Given the description of an element on the screen output the (x, y) to click on. 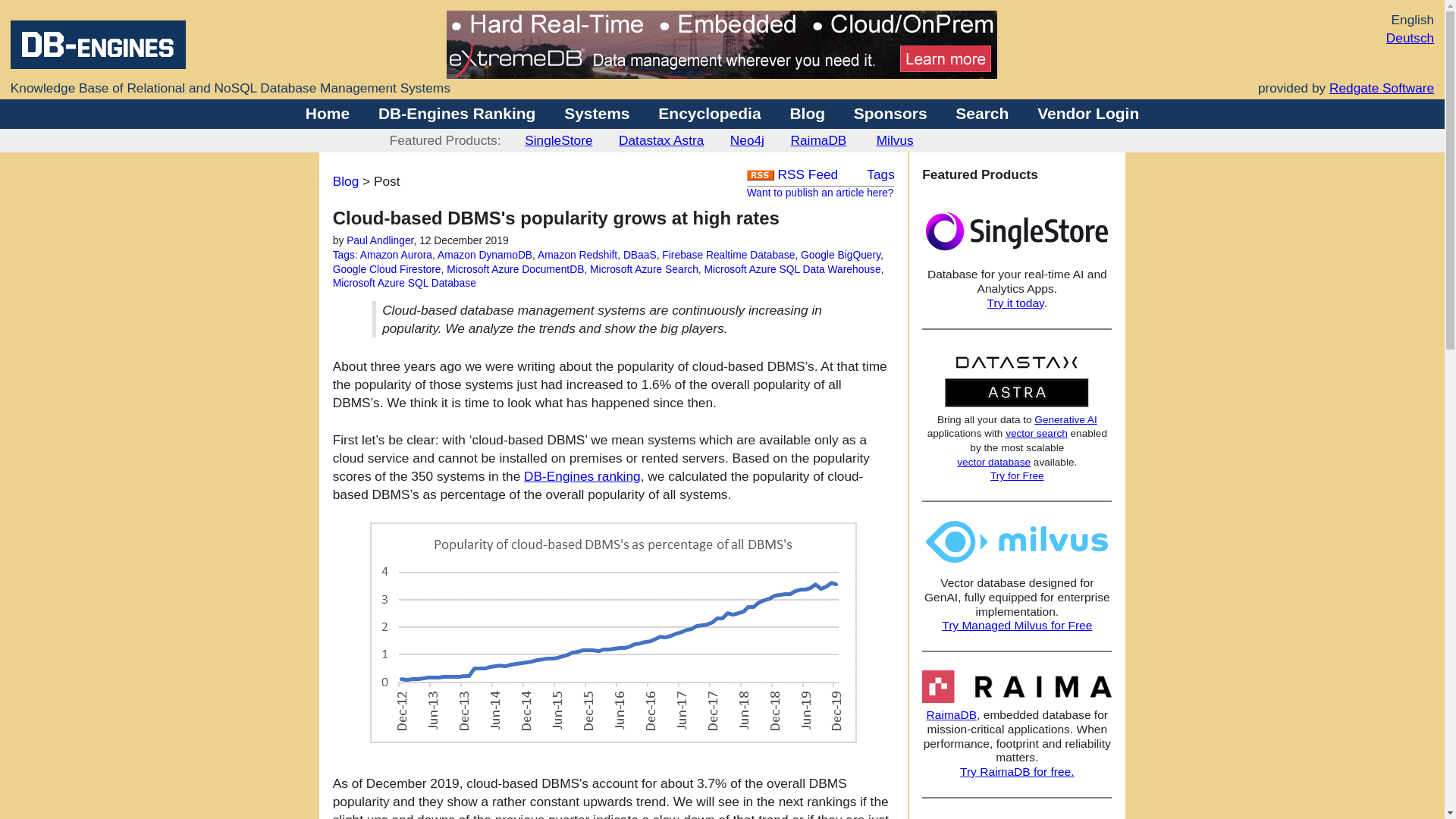
Search (982, 113)
Datastax Astra (660, 140)
Paul Andlinger (379, 240)
SingleStore (558, 140)
Microsoft Azure Search (643, 268)
RaimaDB (817, 140)
Encyclopedia (709, 113)
Tags (344, 254)
Vendor Login (1087, 113)
Firebase Realtime Database (728, 254)
